Given the description of an element on the screen output the (x, y) to click on. 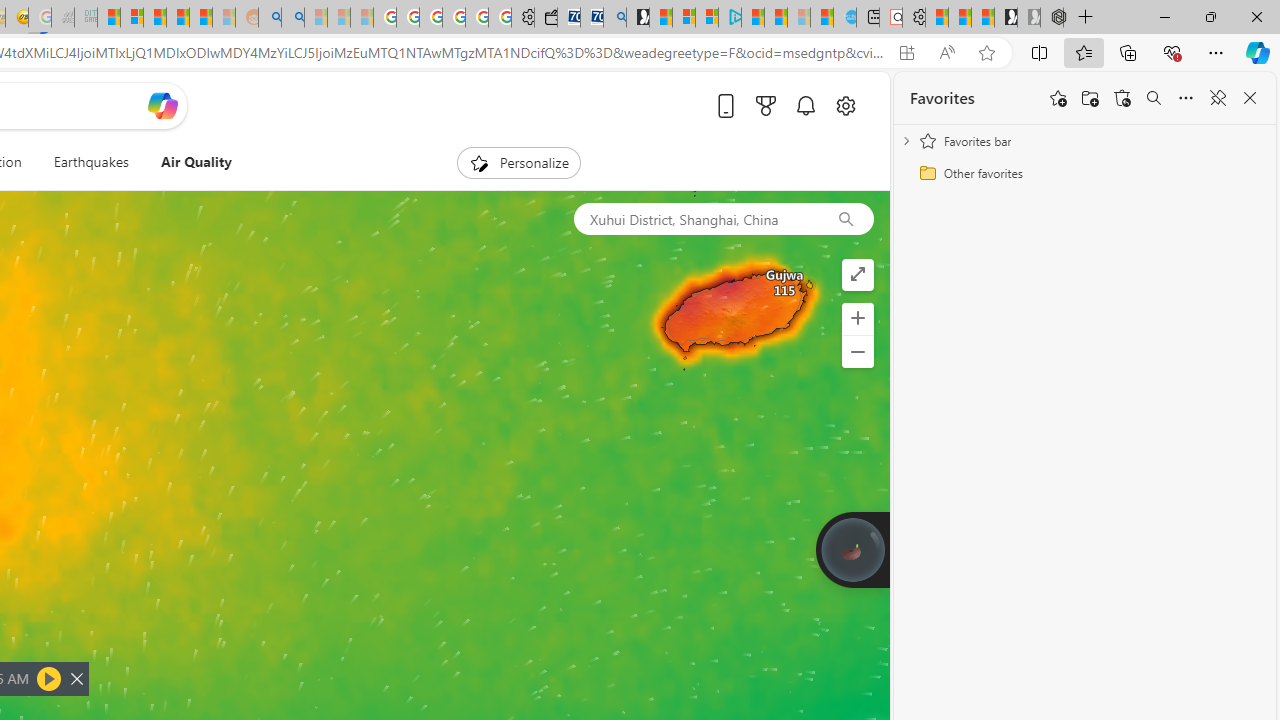
Cheap Car Rentals - Save70.com (591, 17)
Enter full screen mode (858, 274)
Add folder (1089, 98)
